Given the description of an element on the screen output the (x, y) to click on. 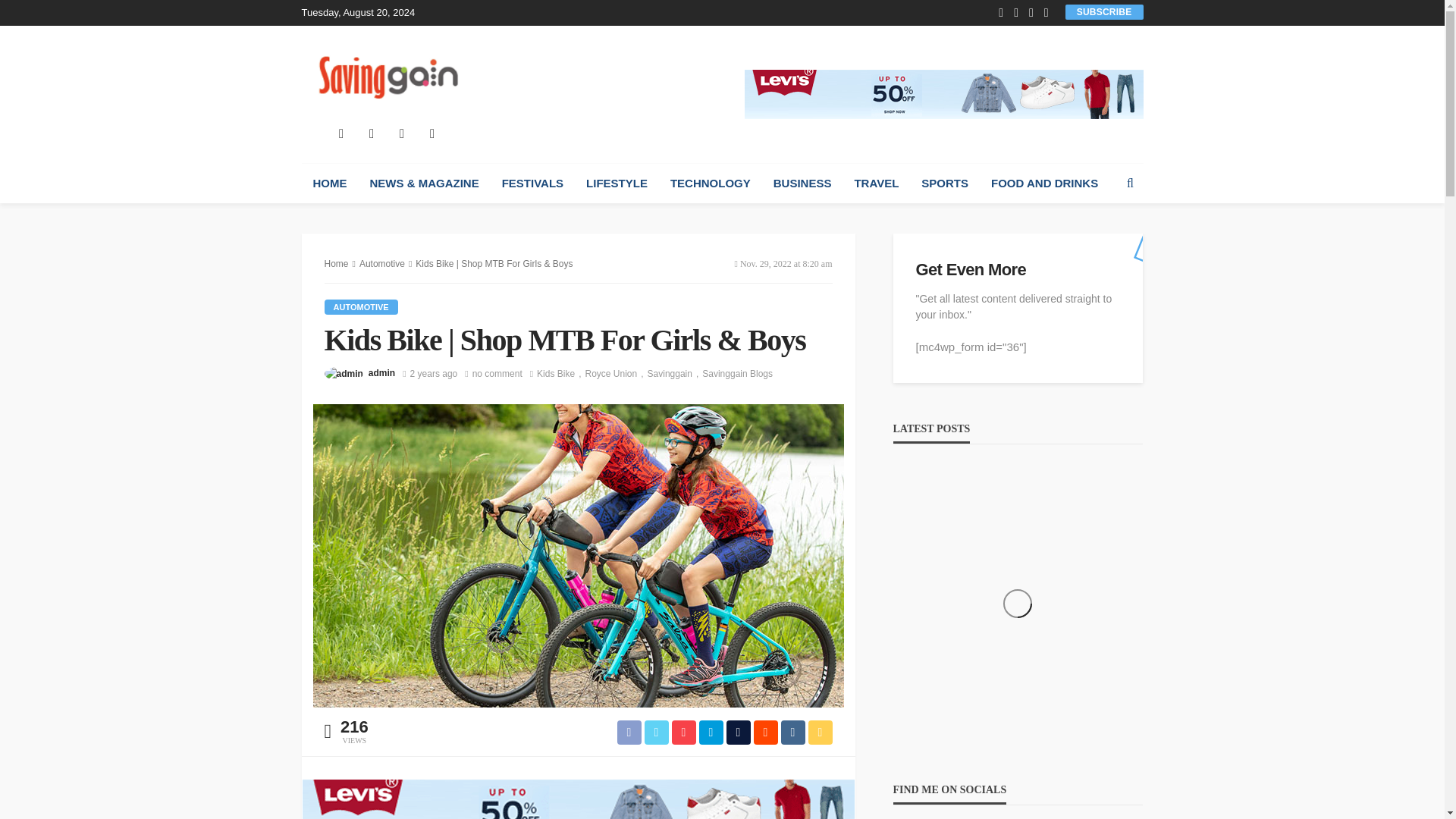
HOME (329, 183)
TECHNOLOGY (710, 183)
LIFESTYLE (617, 183)
subscribe (1103, 11)
SUBSCRIBE (1103, 11)
FESTIVALS (532, 183)
TRAVEL (876, 183)
Kids Bike (561, 373)
Automotive (360, 306)
The Real Offers By SavingGain: (386, 74)
